Given the description of an element on the screen output the (x, y) to click on. 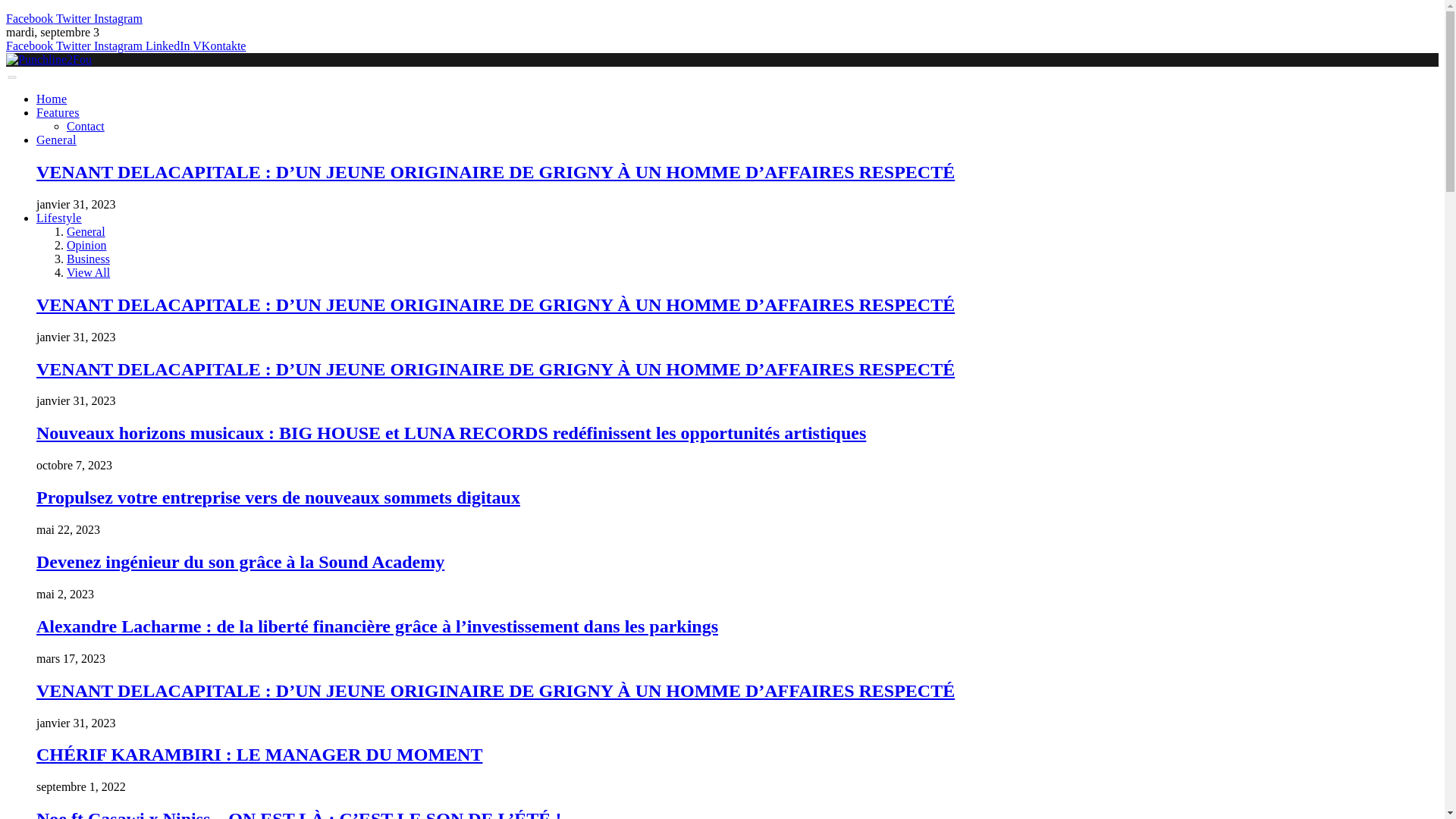
Facebook (30, 45)
Punchline2Fou (48, 59)
Facebook (30, 18)
Instagram (119, 45)
Lifestyle (58, 217)
Home (51, 98)
Features (58, 112)
Opinion (86, 245)
Contact (85, 125)
View All (88, 272)
